Given the description of an element on the screen output the (x, y) to click on. 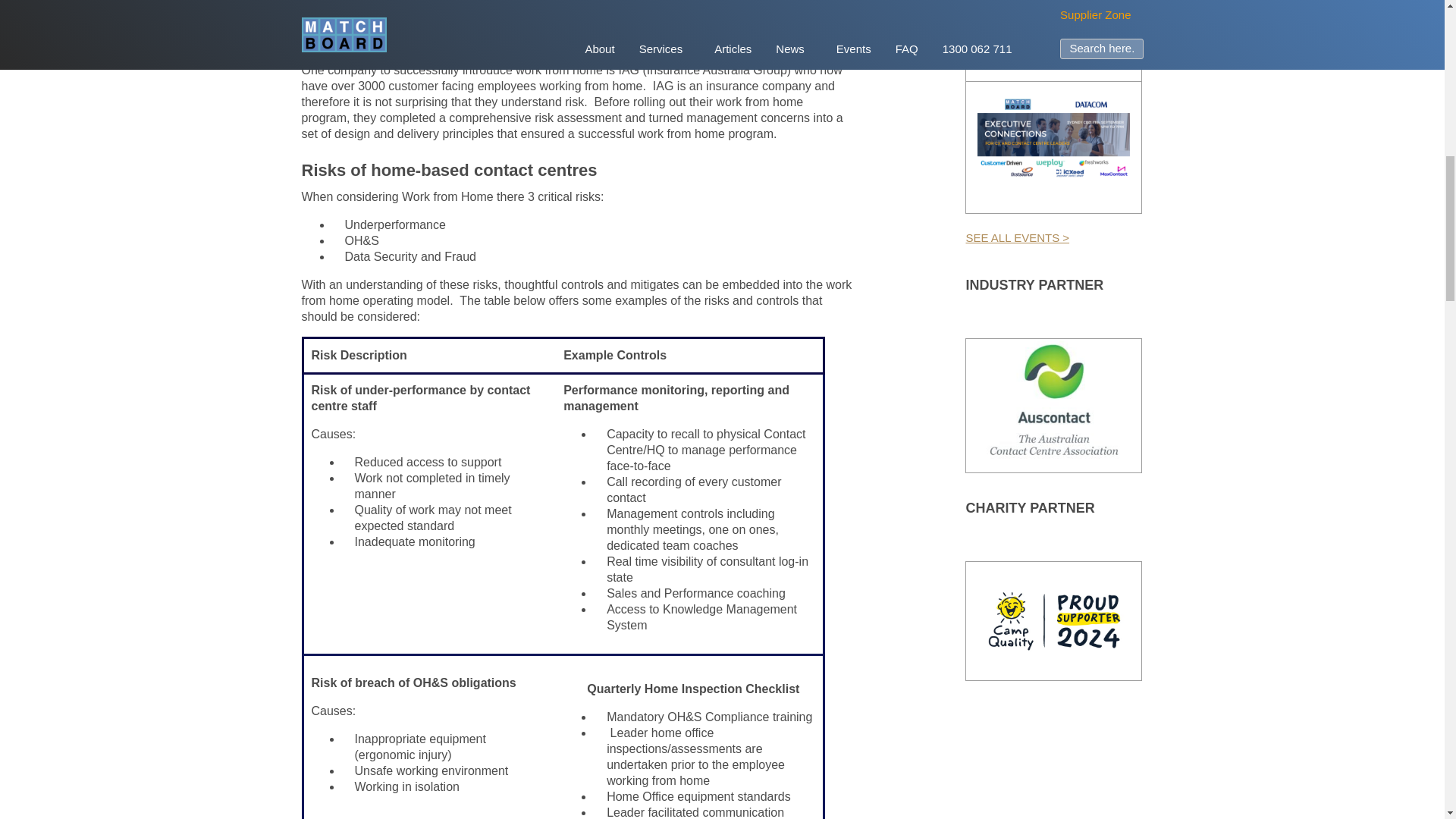
Executive Connections 2024 (1036, 28)
